Given the description of an element on the screen output the (x, y) to click on. 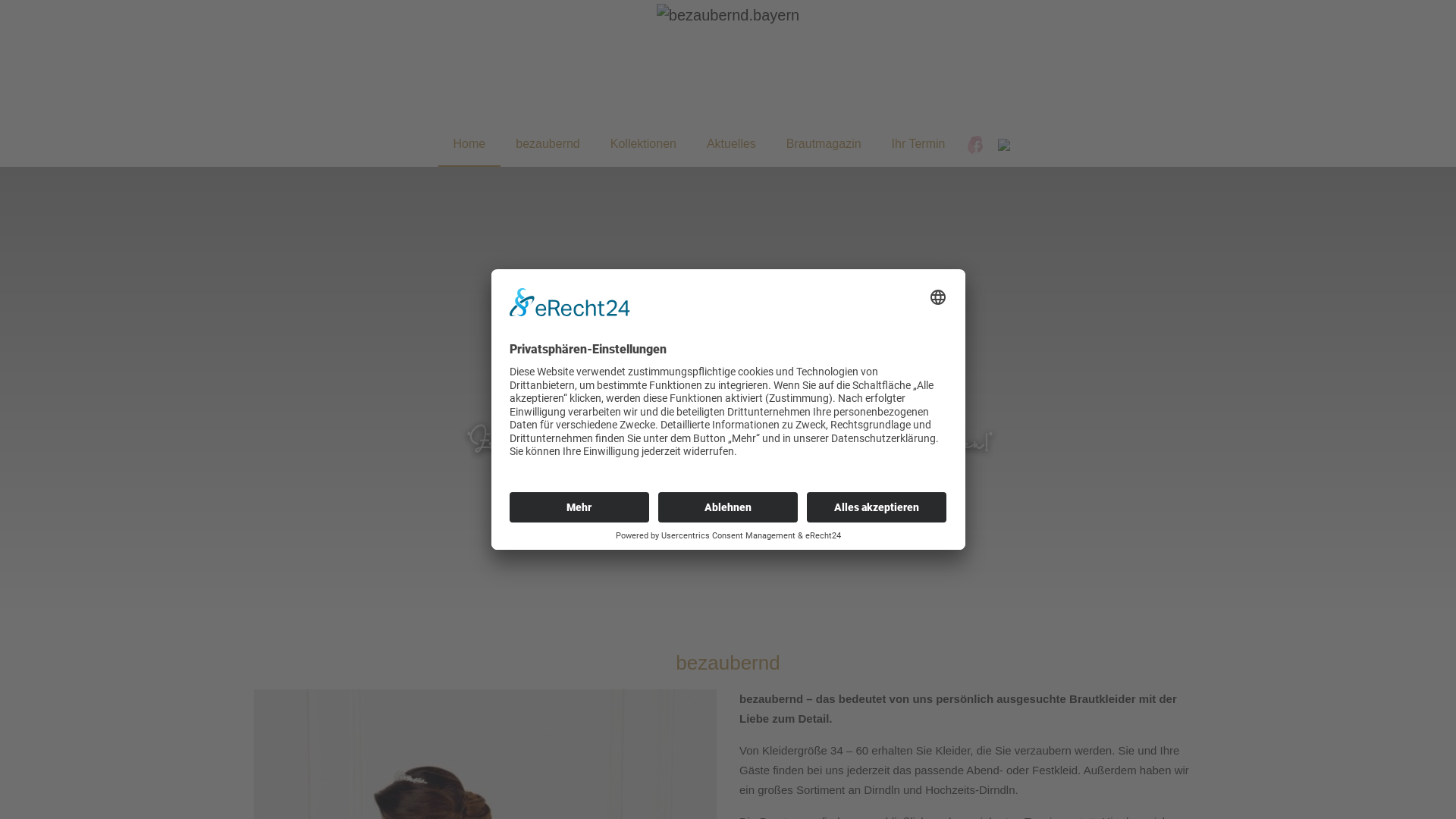
Home Element type: text (469, 143)
bezaubernd Element type: text (547, 143)
Brautmagazin Element type: text (823, 143)
Facebook Element type: hover (975, 143)
Instagram Element type: hover (1003, 143)
Ihr Termin Element type: text (918, 143)
bezaubernd.bayern Element type: hover (727, 14)
Aktuelles Element type: text (731, 143)
Kollektionen Element type: text (643, 143)
Zu LeMoos Element type: text (727, 494)
